Given the description of an element on the screen output the (x, y) to click on. 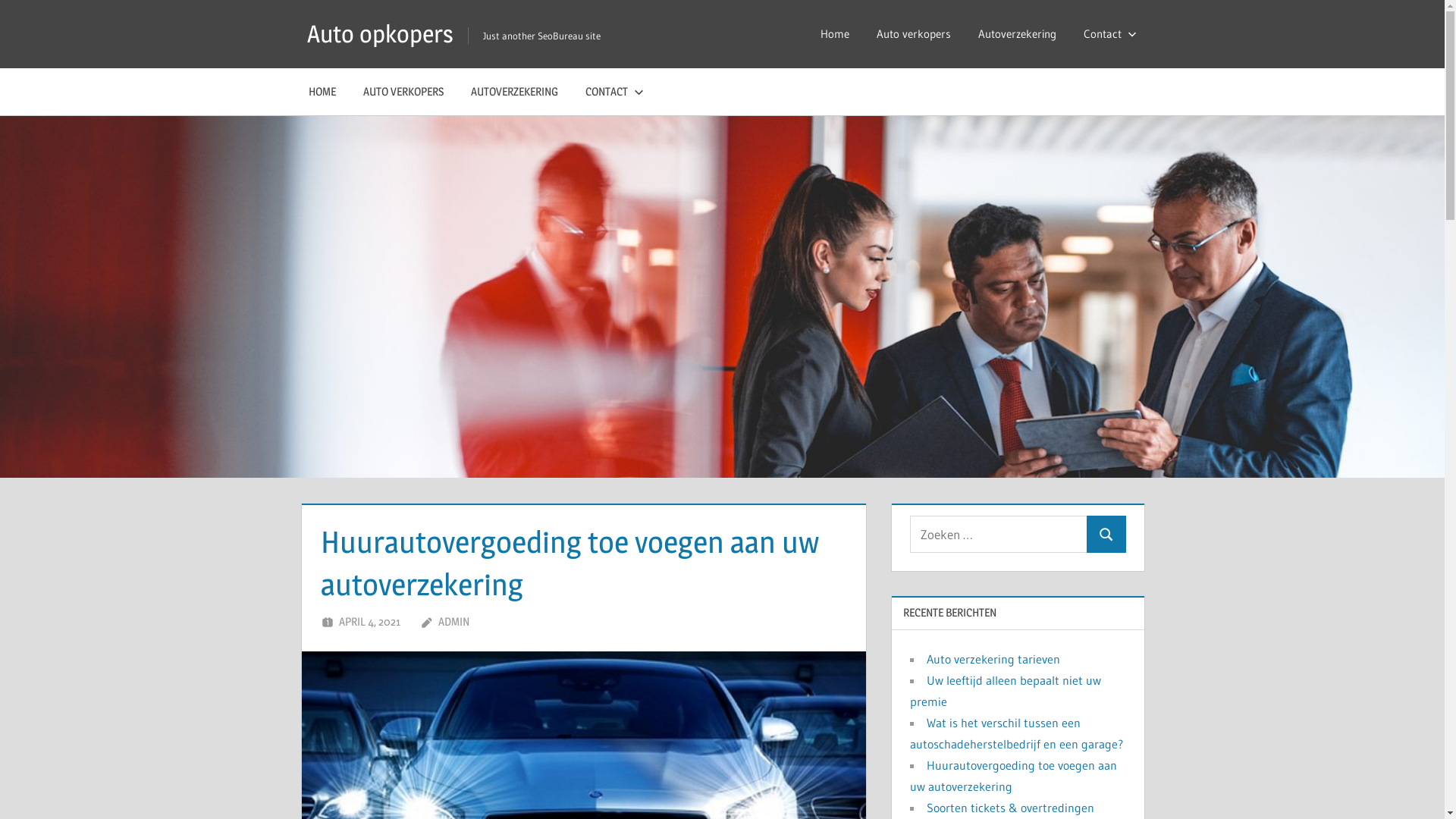
Autoverzekering Element type: text (1017, 33)
AUTO VERKOPERS Element type: text (403, 91)
Auto opkopers Element type: text (380, 33)
Contact Element type: text (1106, 33)
AUTOVERZEKERING Element type: text (514, 91)
Auto verzekering tarieven Element type: text (993, 658)
HOME Element type: text (321, 91)
ADMIN Element type: text (453, 621)
Zoeken Element type: text (1105, 533)
Auto verkopers Element type: text (913, 33)
Zoeken naar: Element type: hover (998, 533)
Huurautovergoeding toe voegen aan uw autoverzekering Element type: text (1013, 775)
Uw leeftijd alleen bepaalt niet uw premie Element type: text (1005, 690)
Home Element type: text (834, 33)
APRIL 4, 2021 Element type: text (369, 621)
Soorten tickets & overtredingen Element type: text (1010, 807)
CONTACT Element type: text (611, 91)
